Given the description of an element on the screen output the (x, y) to click on. 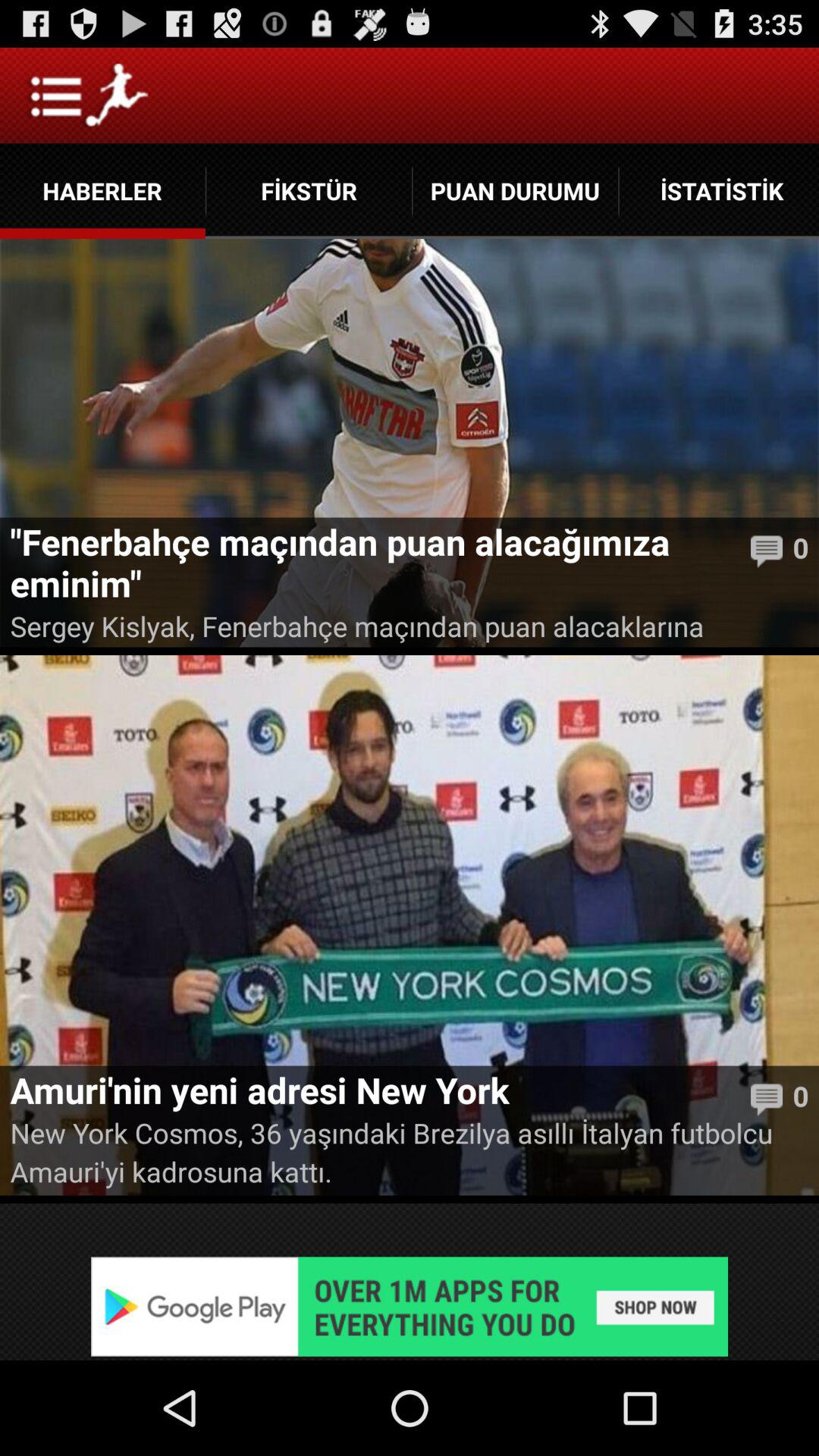
select the item to the right of the puan durumu item (719, 190)
